Given the description of an element on the screen output the (x, y) to click on. 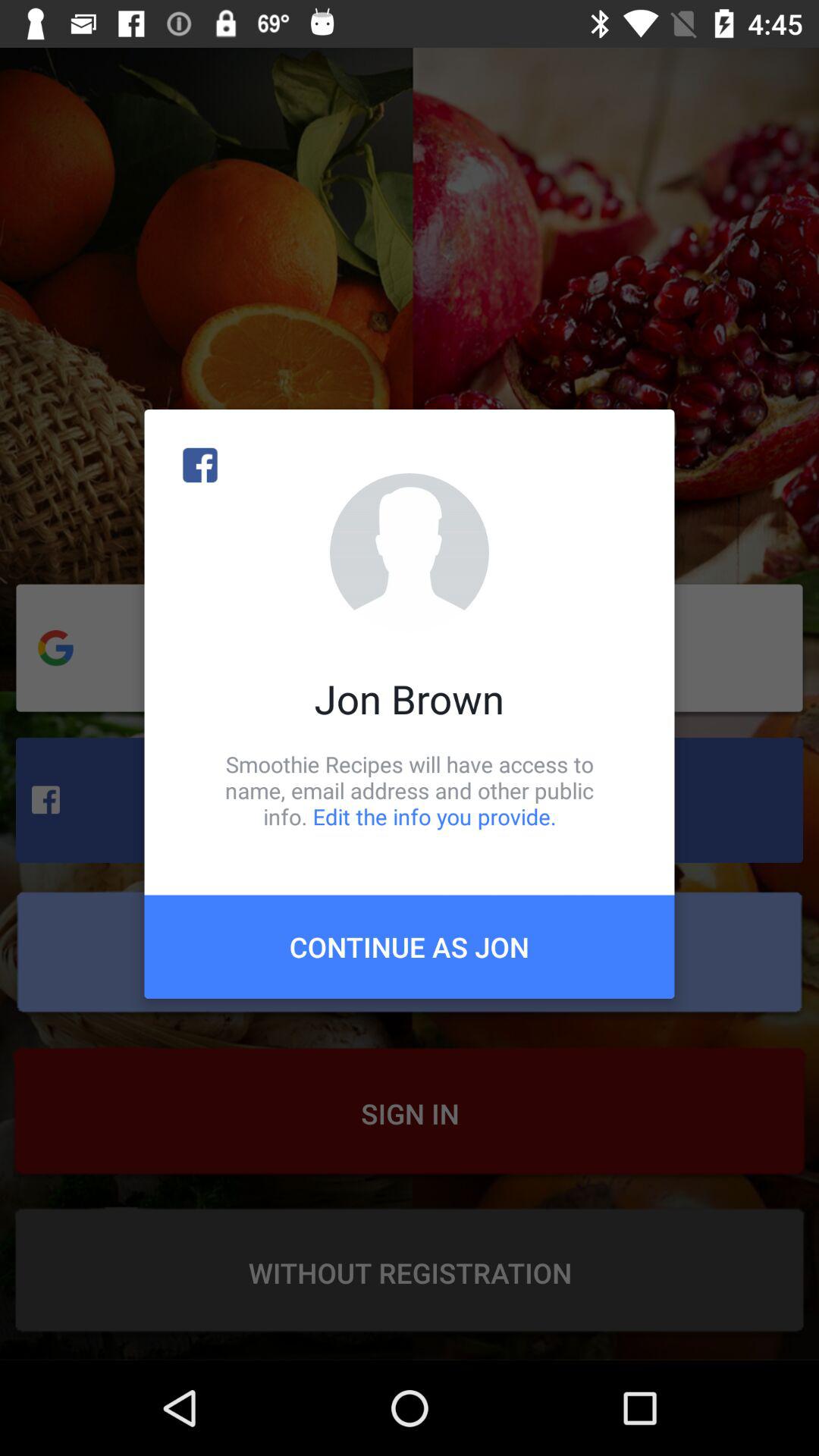
turn on icon above the continue as jon icon (409, 790)
